Given the description of an element on the screen output the (x, y) to click on. 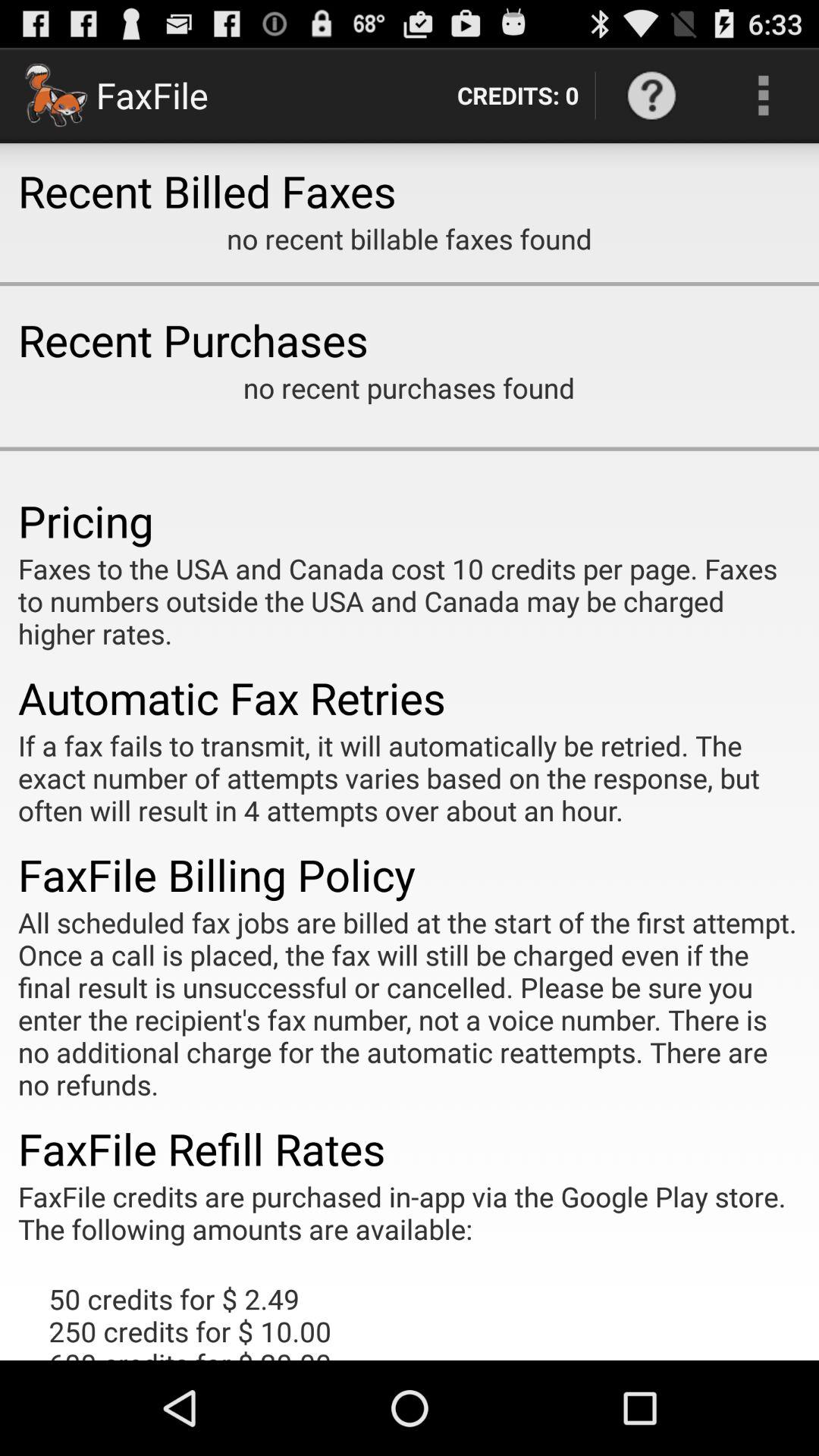
open the icon to the right of the faxfile icon (517, 95)
